Given the description of an element on the screen output the (x, y) to click on. 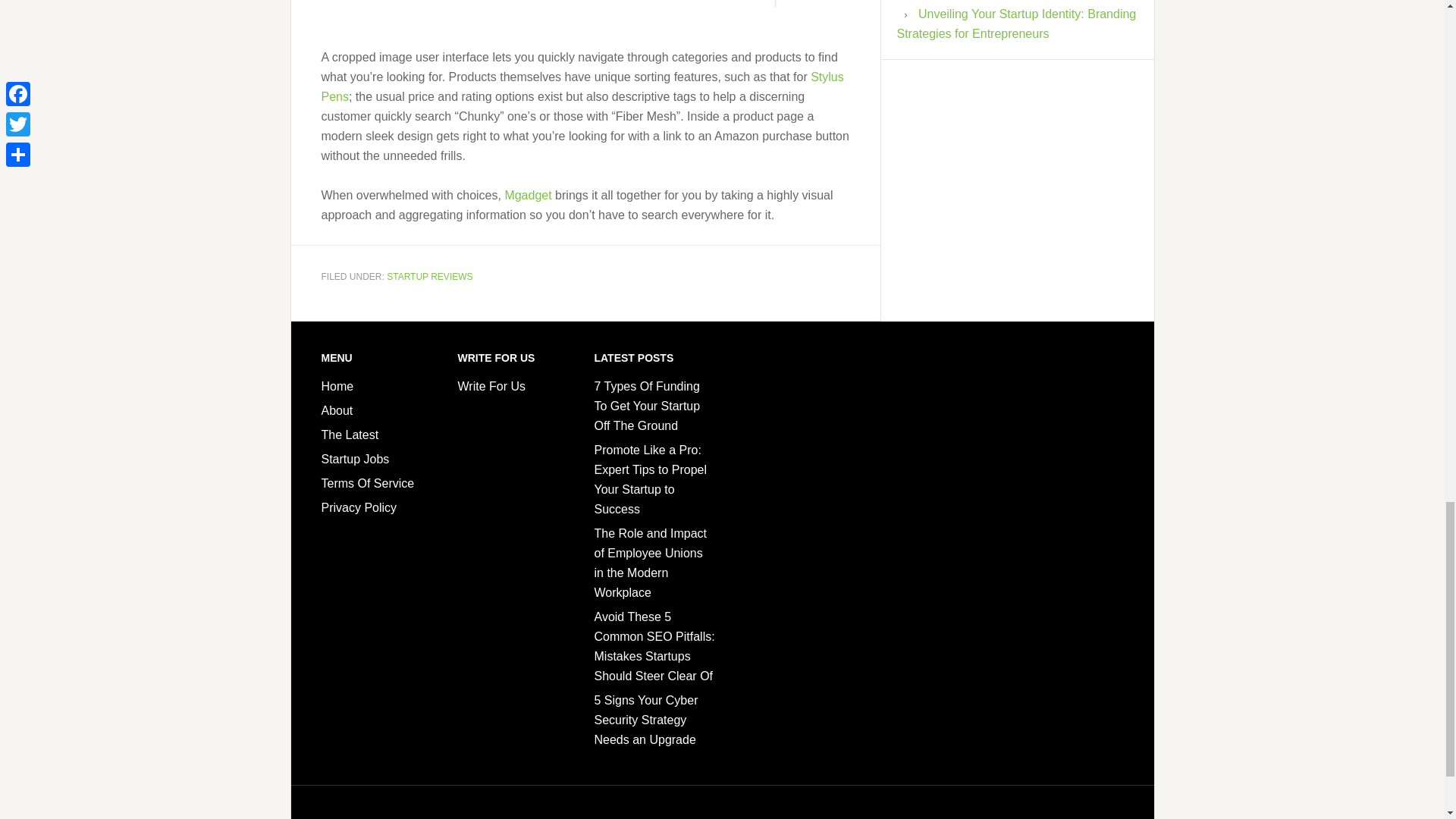
About (337, 410)
Startup Jobs (355, 459)
Stylus Pens (582, 86)
Terms Of Service (367, 482)
Privacy Policy (359, 507)
Mgadget (527, 195)
Write For Us (491, 386)
Home (337, 386)
The Latest (349, 434)
STARTUP REVIEWS (429, 276)
